Given the description of an element on the screen output the (x, y) to click on. 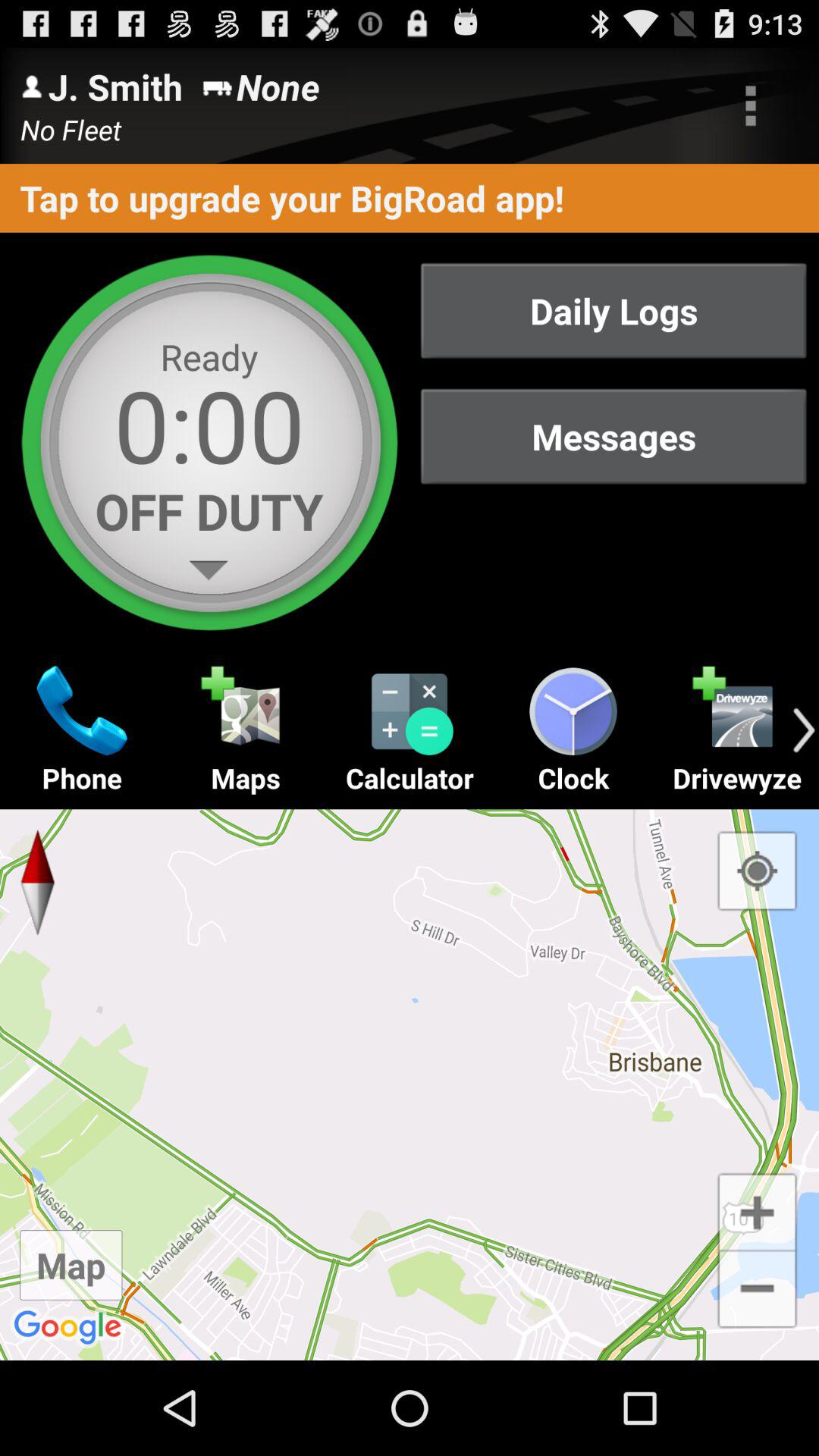
zoom (757, 1210)
